Given the description of an element on the screen output the (x, y) to click on. 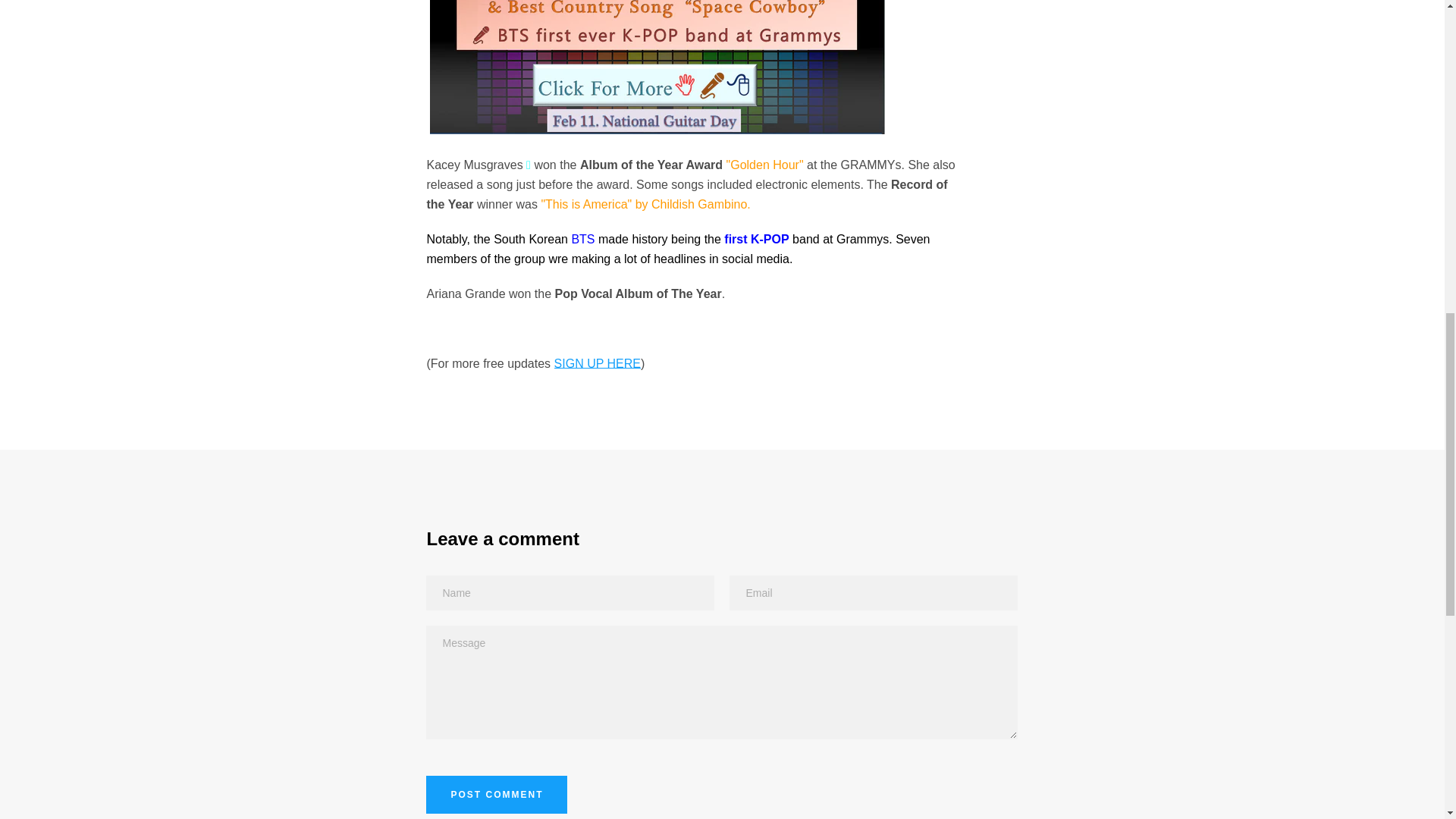
Sign up for free (597, 363)
Post comment (496, 794)
